Given the description of an element on the screen output the (x, y) to click on. 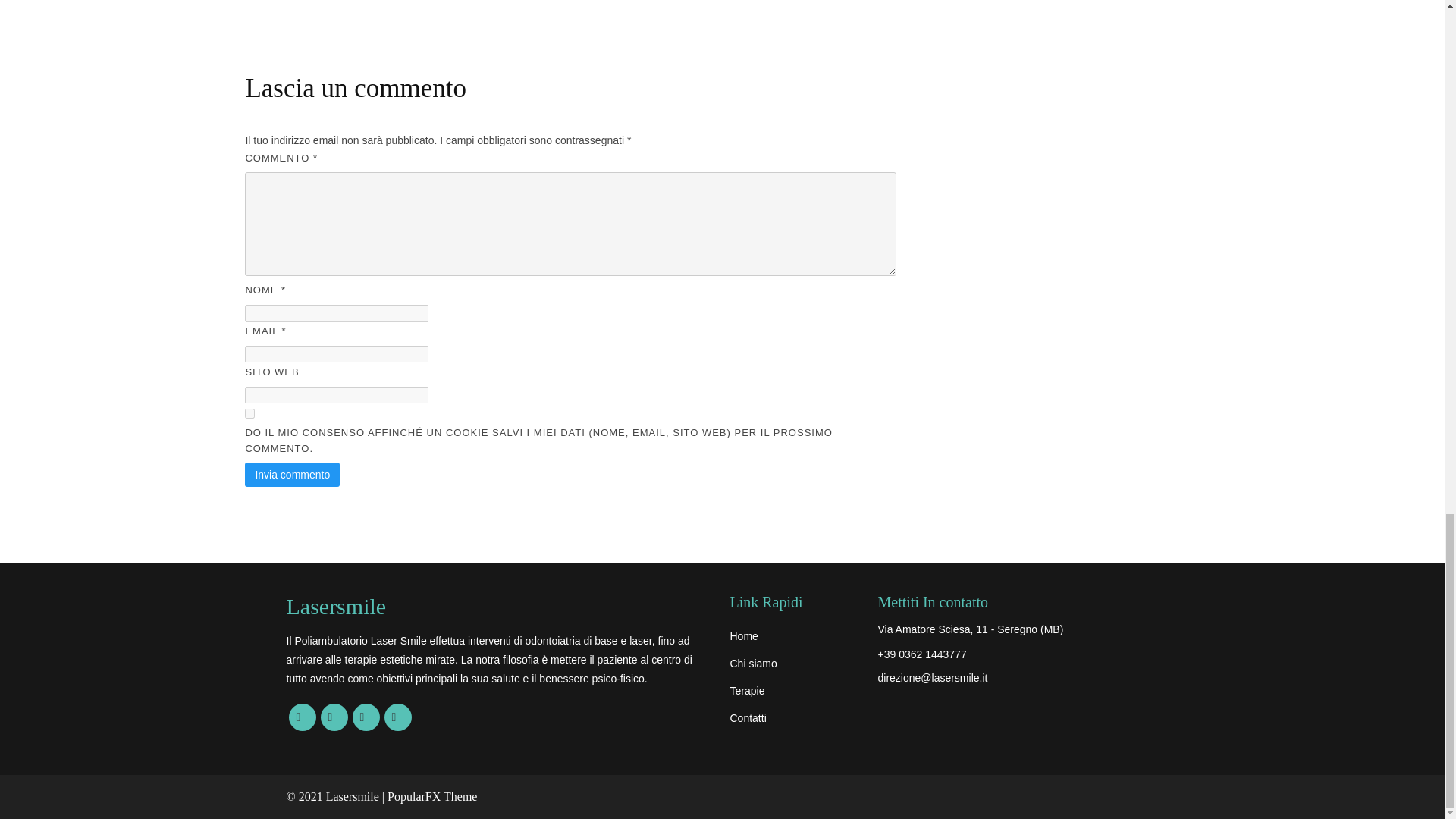
Contatti (795, 718)
Chi siamo (795, 663)
Invia commento (291, 474)
Lasersmile (500, 606)
Invia commento (291, 474)
Terapie (795, 690)
Home (795, 636)
yes (249, 413)
